Given the description of an element on the screen output the (x, y) to click on. 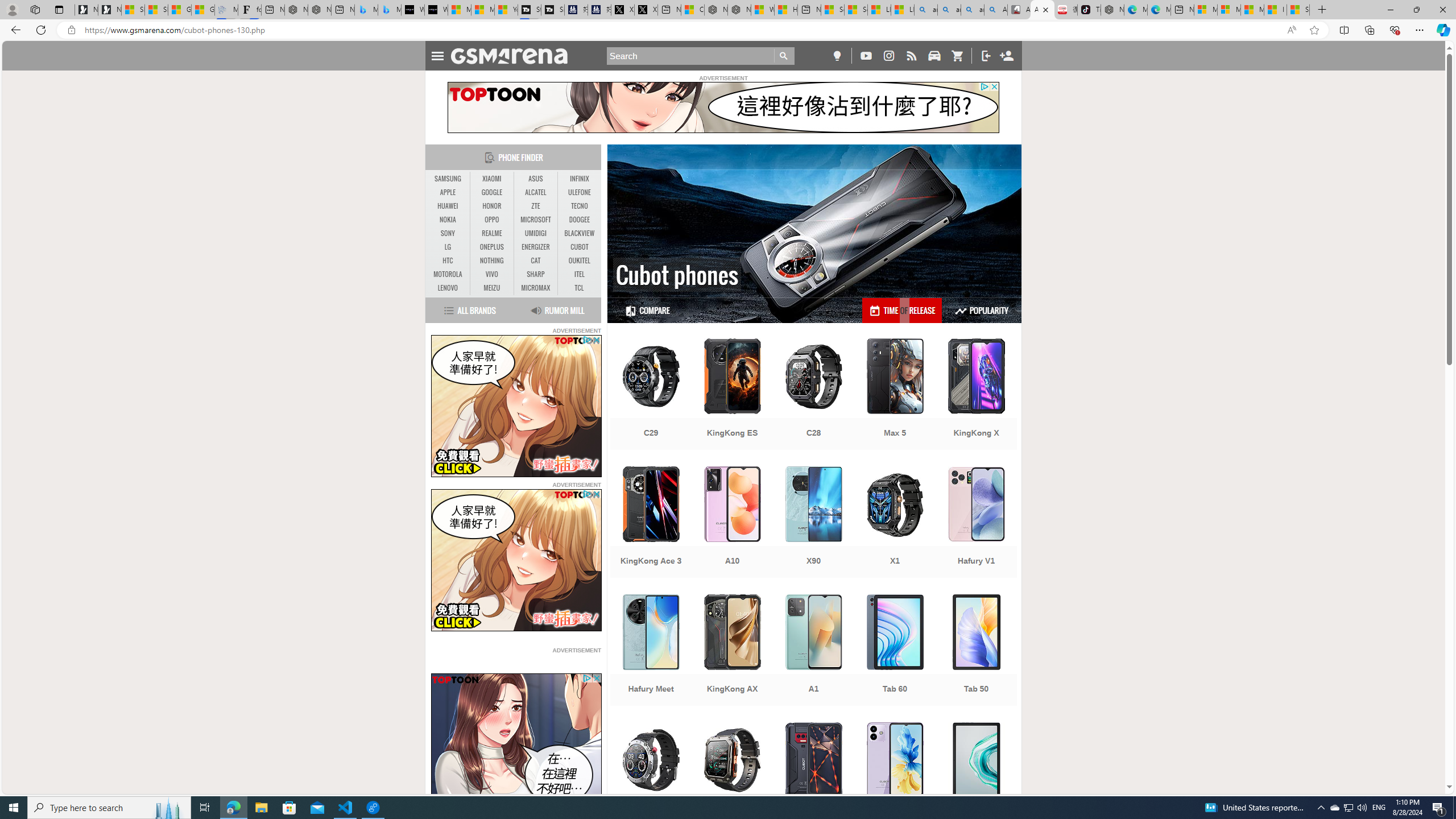
Newsletter Sign Up (109, 9)
